Given the description of an element on the screen output the (x, y) to click on. 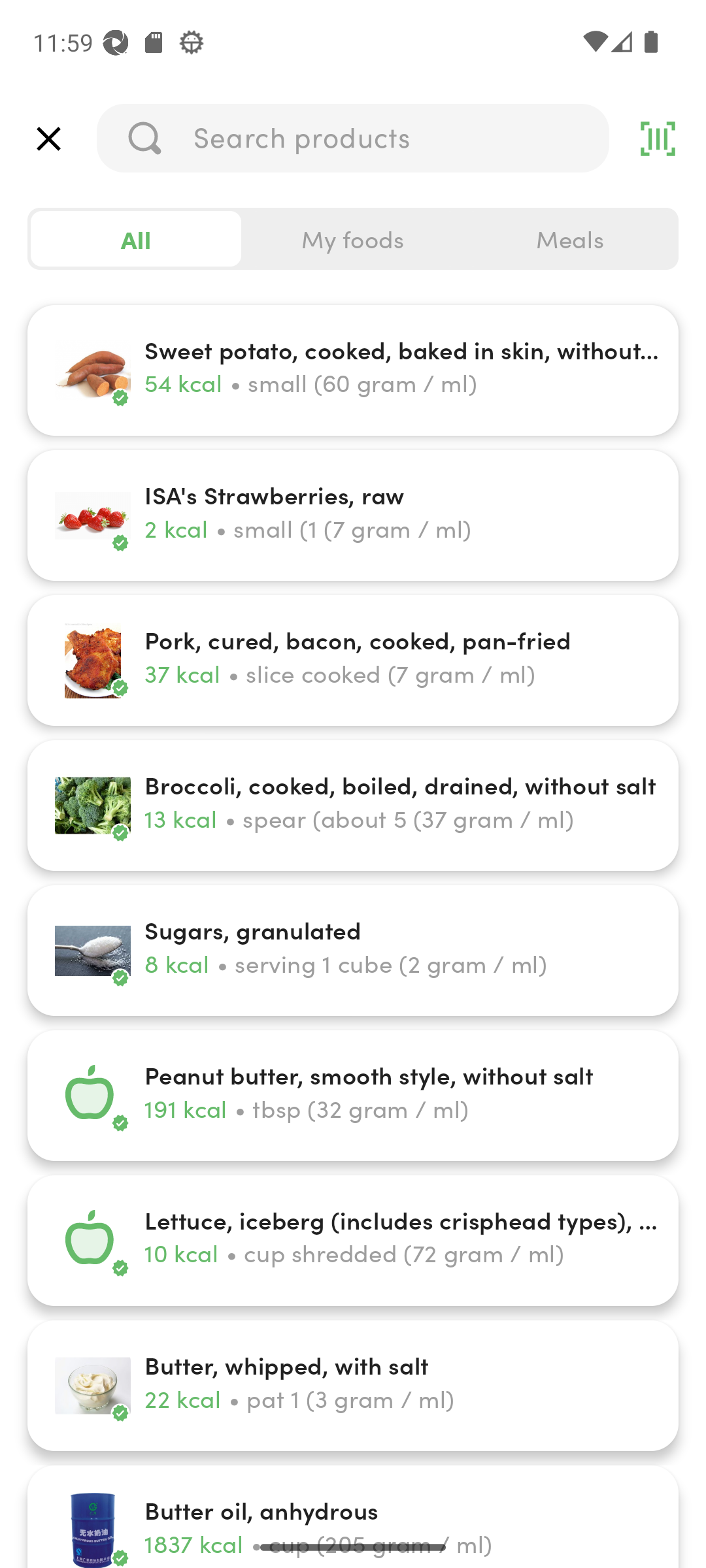
top_left_action (48, 138)
top_right_action (658, 138)
My foods (352, 238)
Meals (569, 238)
